Given the description of an element on the screen output the (x, y) to click on. 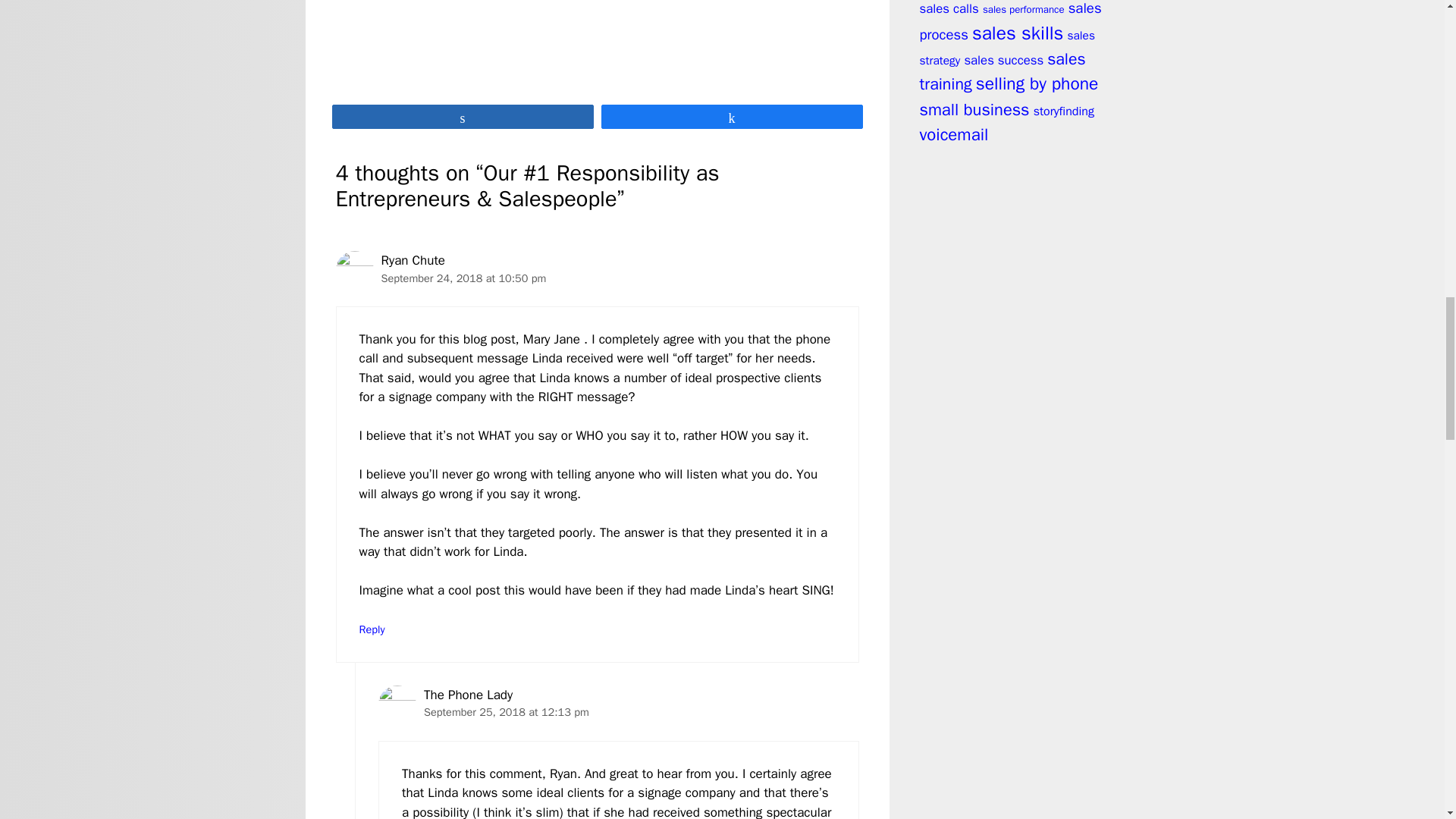
September 24, 2018 at 10:50 pm (463, 278)
September 25, 2018 at 12:13 pm (506, 712)
Reply (372, 629)
